Given the description of an element on the screen output the (x, y) to click on. 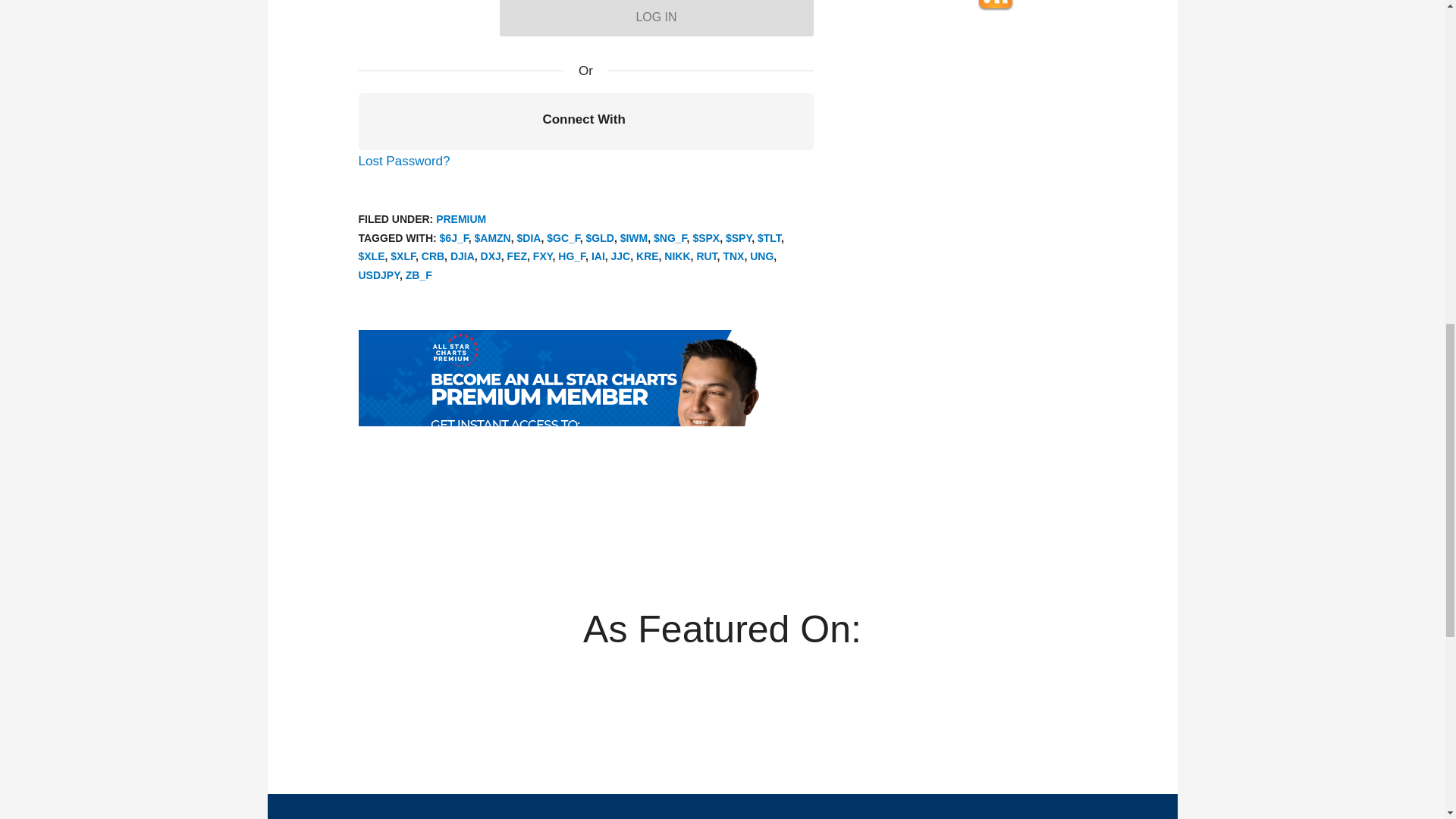
Log In (655, 18)
